Given the description of an element on the screen output the (x, y) to click on. 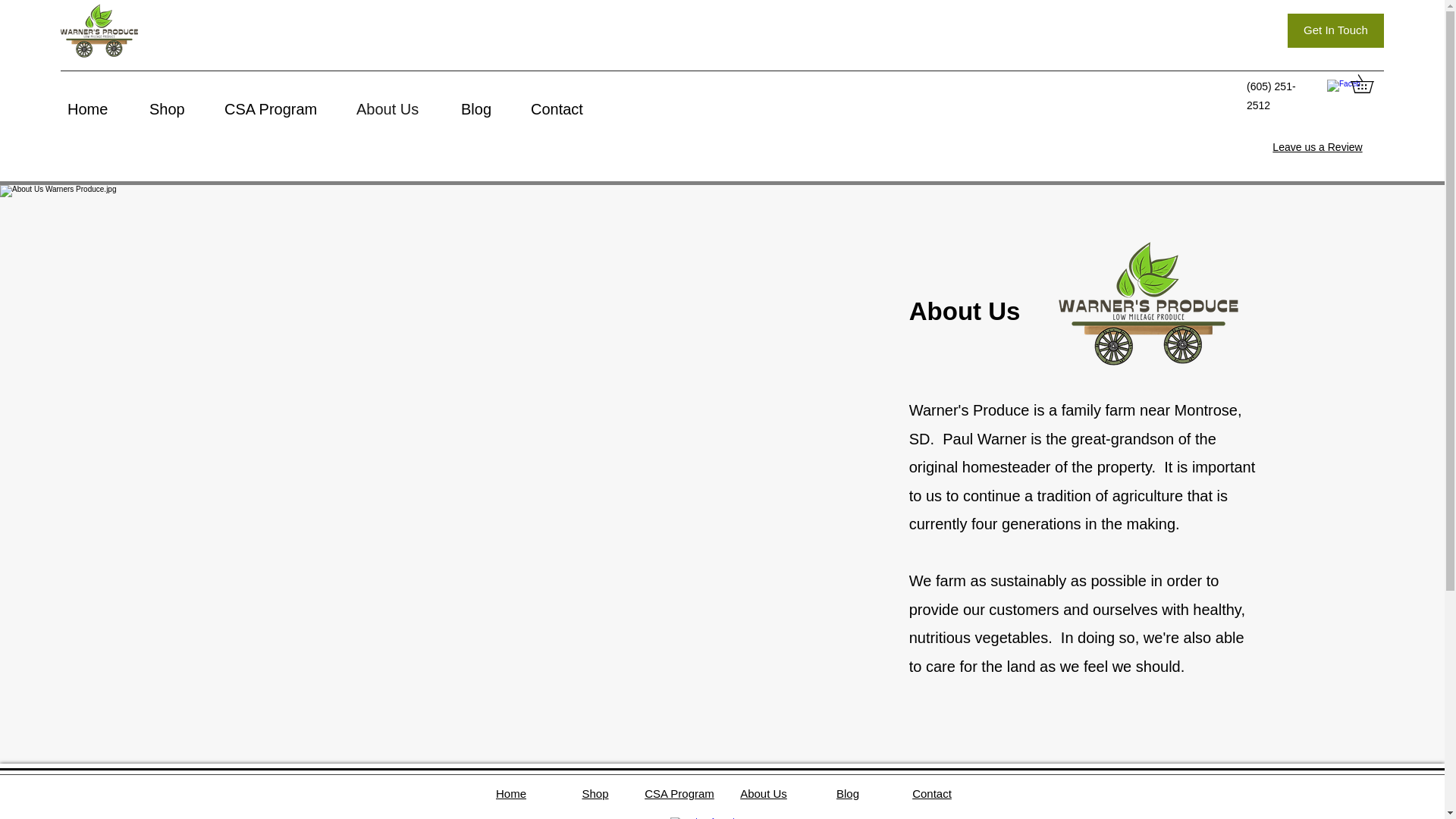
Contact (932, 793)
CSA Program (679, 793)
Blog (487, 107)
Blog (847, 793)
About Us (400, 107)
Leave us a Review (1316, 146)
CSA Program (282, 107)
Contact (569, 107)
Get In Touch (1335, 30)
About Us (763, 793)
